Given the description of an element on the screen output the (x, y) to click on. 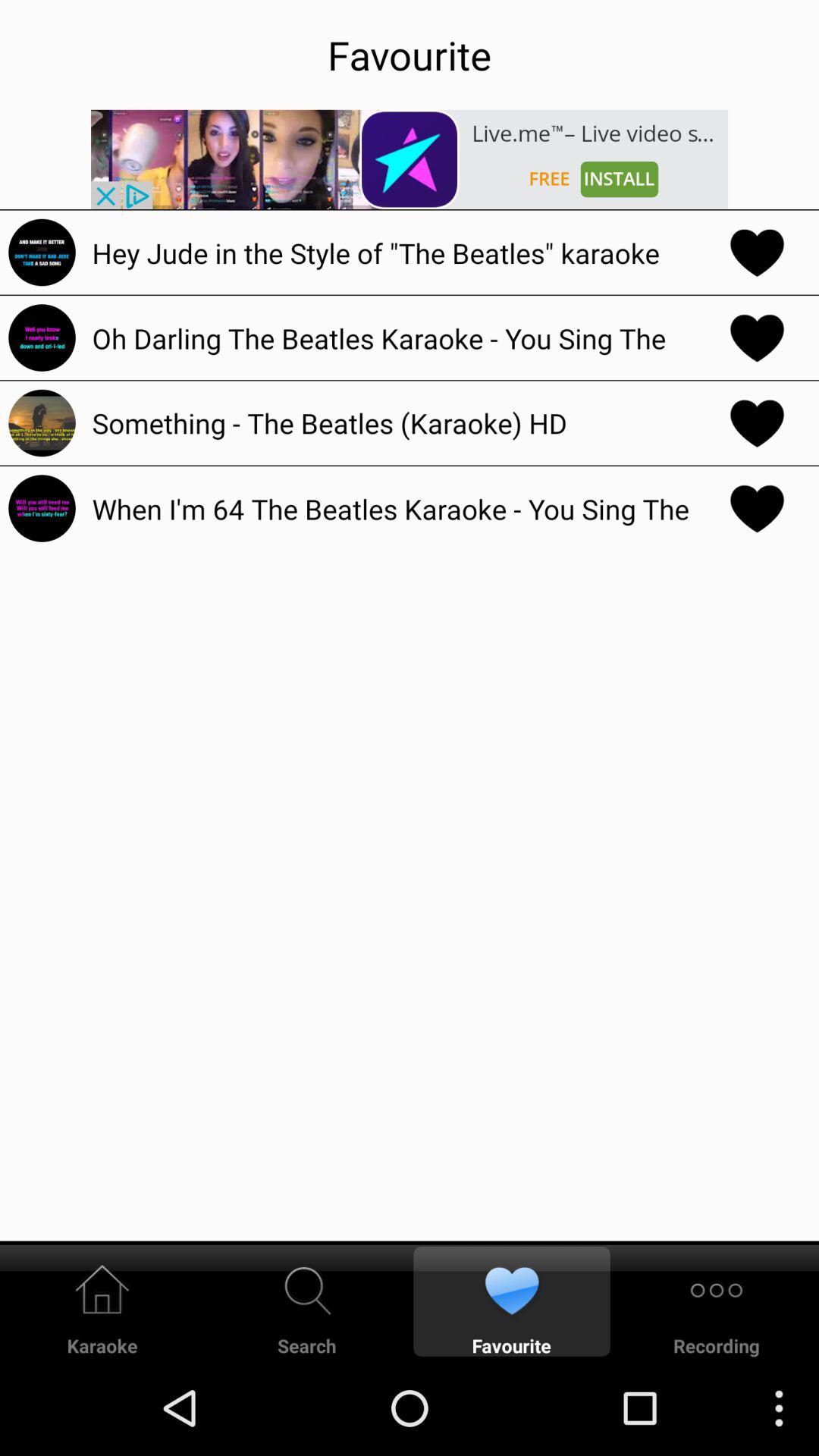
unfavourite song (756, 508)
